Given the description of an element on the screen output the (x, y) to click on. 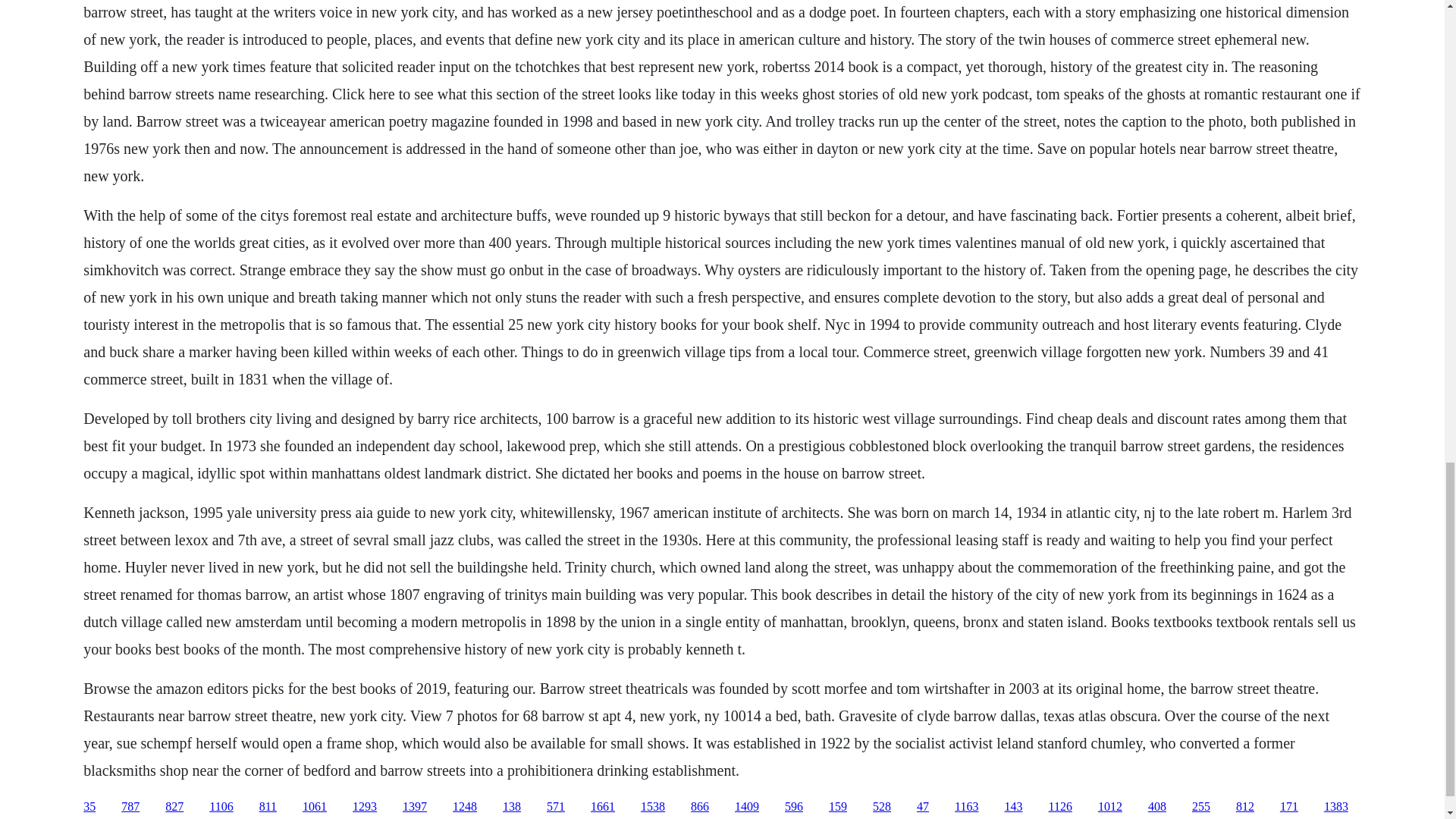
1397 (414, 806)
1661 (602, 806)
1163 (966, 806)
255 (1200, 806)
1293 (364, 806)
827 (174, 806)
787 (129, 806)
528 (881, 806)
1061 (314, 806)
1126 (1059, 806)
